Given the description of an element on the screen output the (x, y) to click on. 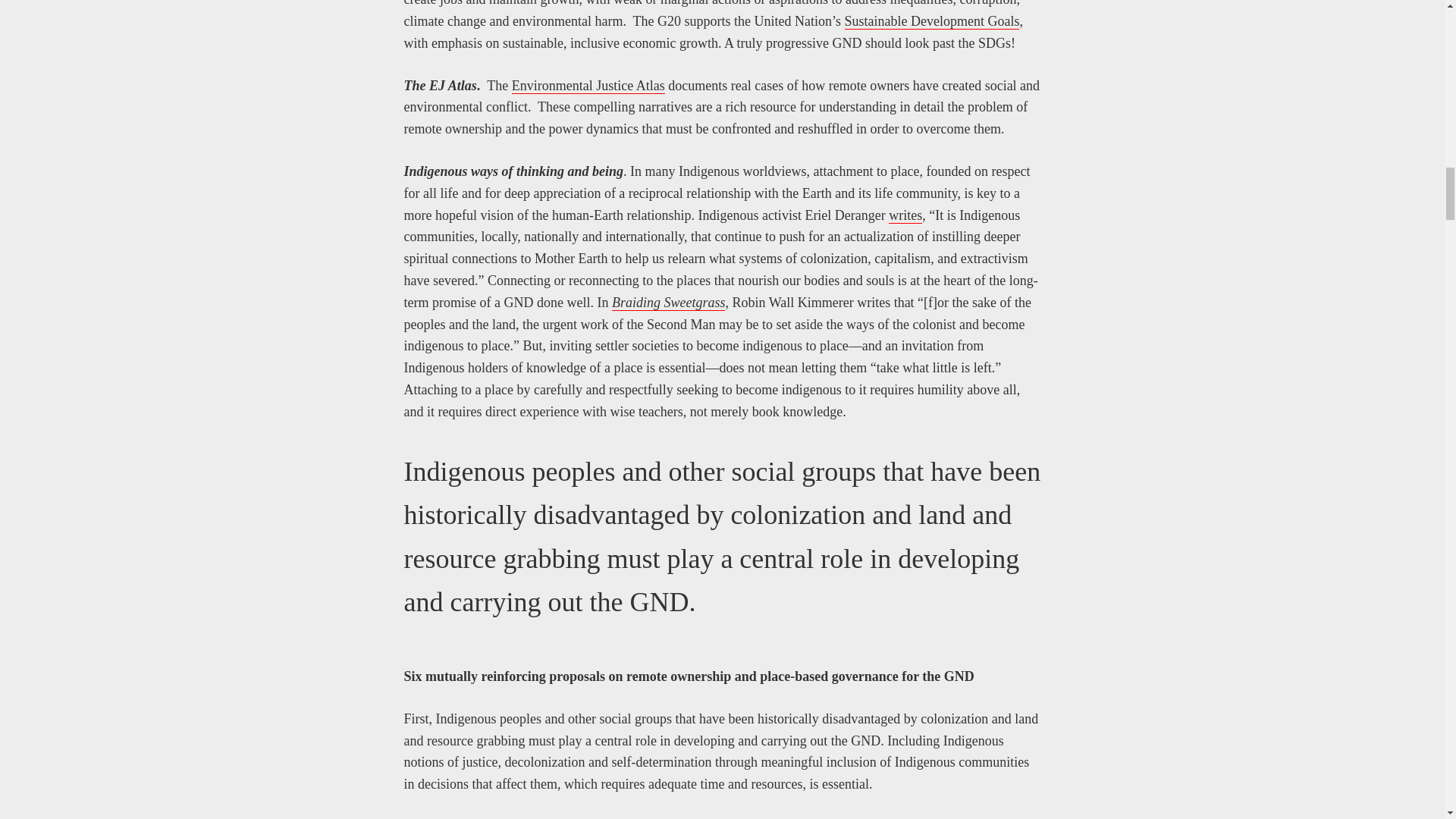
writes (904, 215)
Braiding Sweetgrass (668, 302)
Environmental Justice Atlas (588, 85)
Sustainable Development Goals (932, 21)
